Given the description of an element on the screen output the (x, y) to click on. 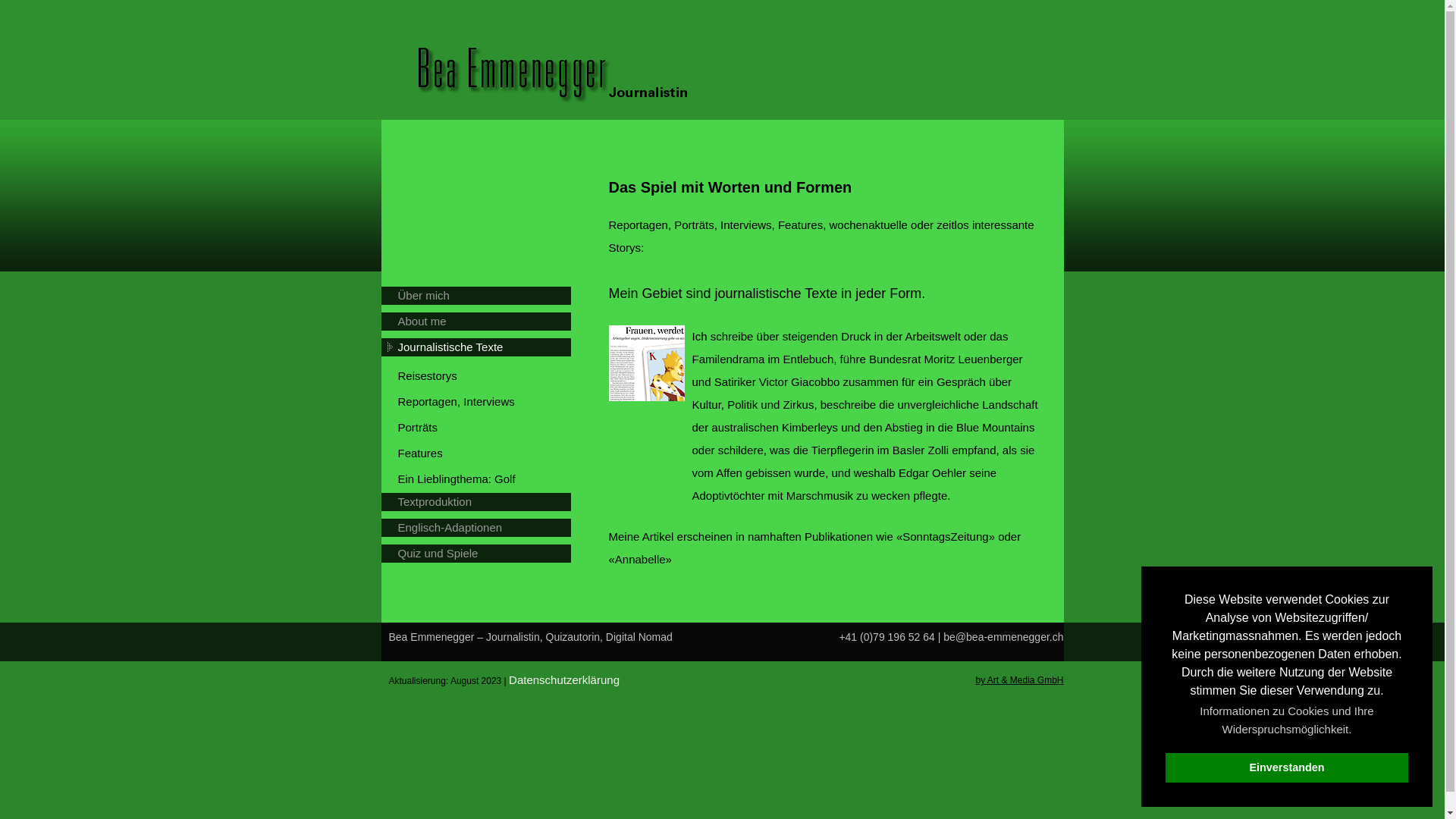
Features Element type: text (483, 453)
Journalistische Texte Element type: text (481, 347)
About me Element type: text (481, 321)
Quiz und Spiele Element type: text (481, 553)
Einverstanden Element type: text (1286, 767)
be@bea-emmenegger.ch Element type: text (1003, 636)
by Art & Media GmbH Element type: text (1019, 679)
Englisch-Adaptionen Element type: text (481, 527)
Reisestorys Element type: text (483, 375)
Textproduktion Element type: text (481, 501)
Reportagen, Interviews Element type: text (483, 401)
Ein Lieblingthema: Golf Element type: text (483, 478)
